Given the description of an element on the screen output the (x, y) to click on. 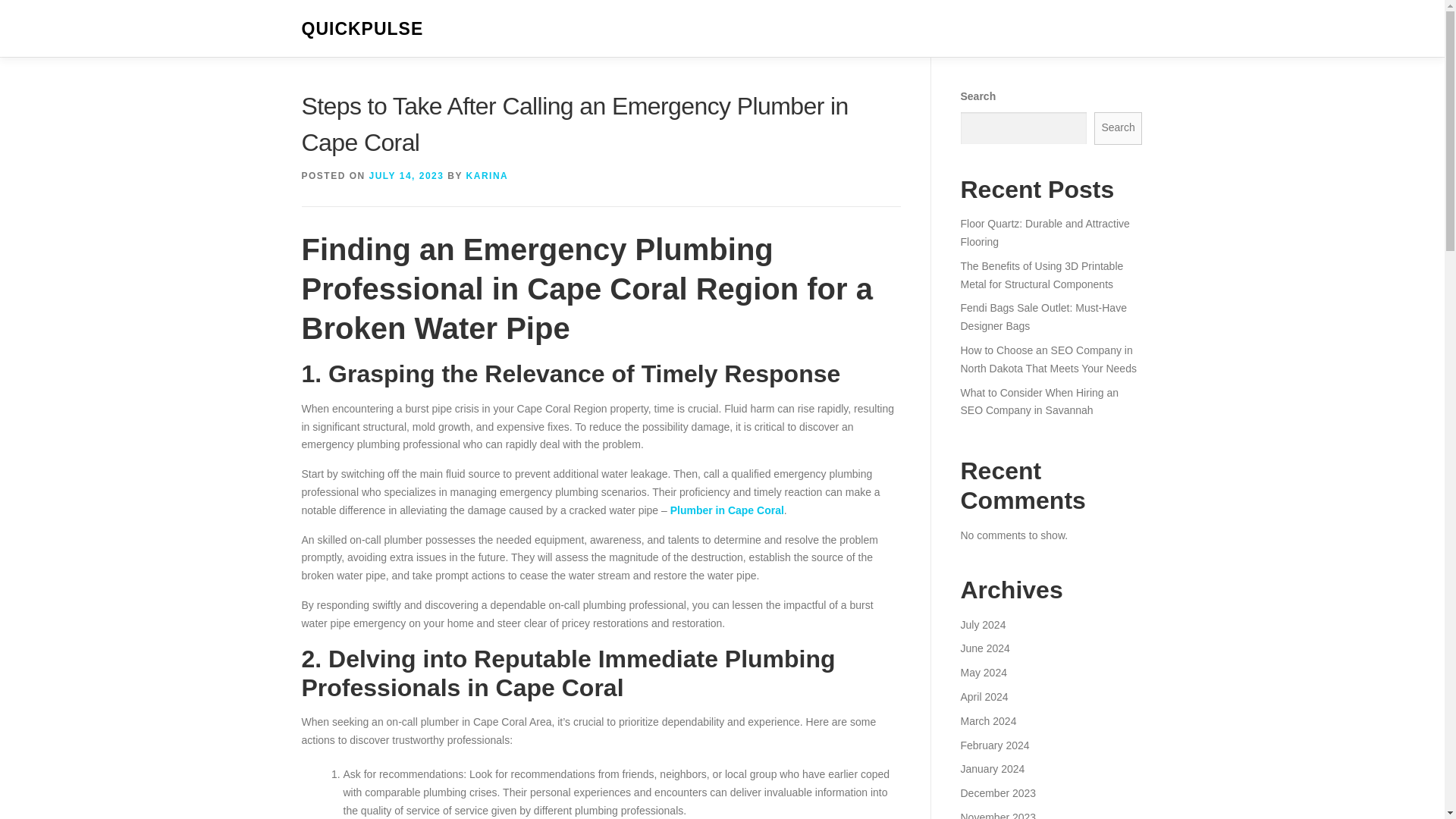
December 2023 (997, 793)
Plumber in Cape Coral (726, 510)
May 2024 (982, 672)
Fendi Bags Sale Outlet: Must-Have Designer Bags (1042, 317)
November 2023 (997, 815)
March 2024 (987, 720)
QUICKPULSE (362, 29)
JULY 14, 2023 (406, 175)
January 2024 (992, 768)
Floor Quartz: Durable and Attractive Flooring (1044, 232)
April 2024 (983, 696)
Search (1118, 128)
What to Consider When Hiring an SEO Company in Savannah (1038, 401)
KARINA (486, 175)
